Given the description of an element on the screen output the (x, y) to click on. 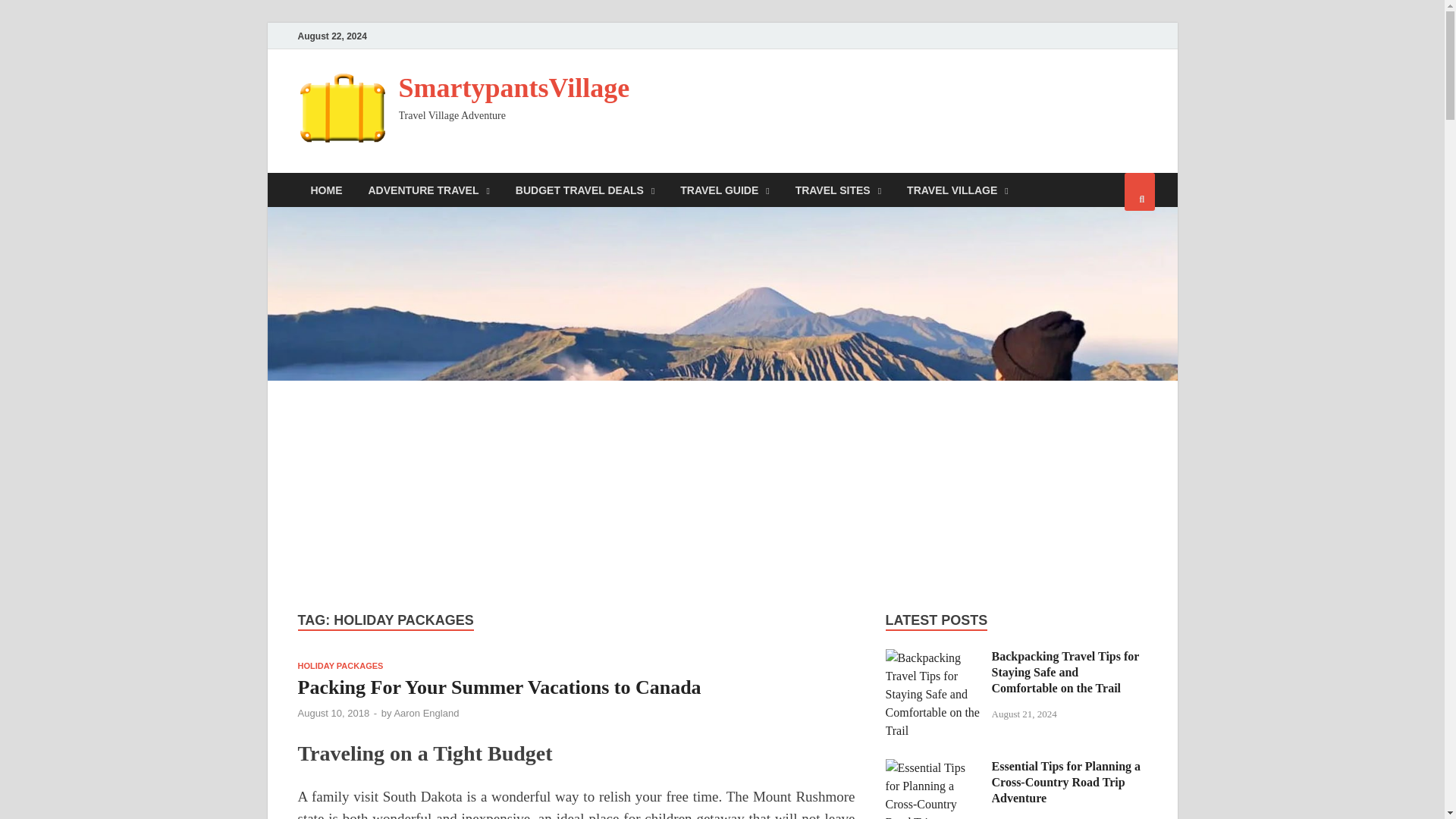
HOLIDAY PACKAGES (339, 665)
HOME (326, 189)
ADVENTURE TRAVEL (428, 189)
Packing For Your Summer Vacations to Canada (498, 687)
TRAVEL GUIDE (723, 189)
SmartypantsVillage (514, 87)
TRAVEL VILLAGE (957, 189)
BUDGET TRAVEL DEALS (584, 189)
TRAVEL SITES (838, 189)
